Given the description of an element on the screen output the (x, y) to click on. 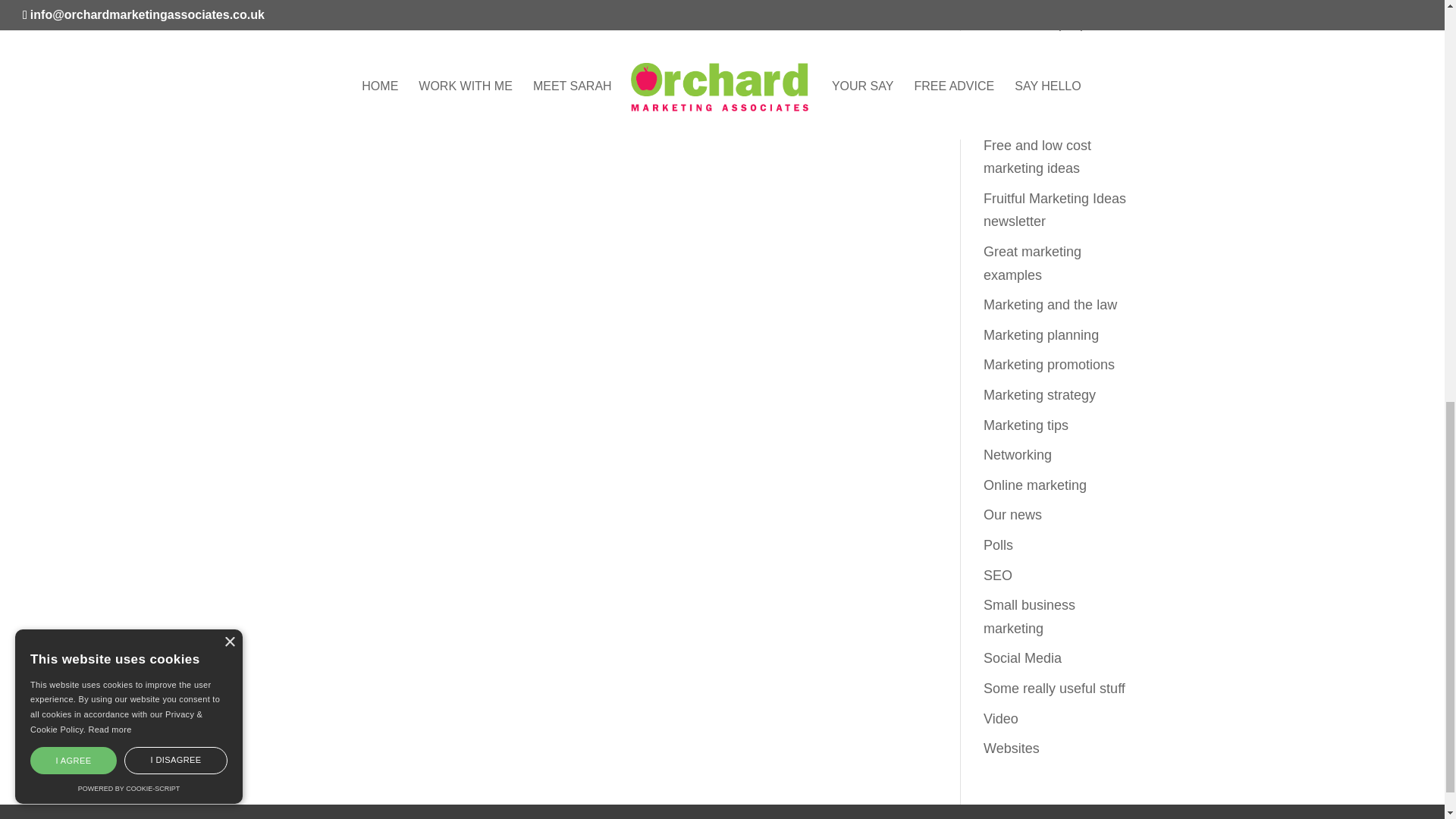
Marketing promotions (1049, 364)
Customer experience (1048, 1)
Free and low cost marketing ideas (1037, 157)
Marketing planning (1041, 335)
Customer research (1041, 55)
Email marketing (1032, 114)
Great marketing examples (1032, 263)
Customer loyalty (1034, 24)
Marketing and the law (1050, 304)
Marketing strategy (1040, 394)
